Given the description of an element on the screen output the (x, y) to click on. 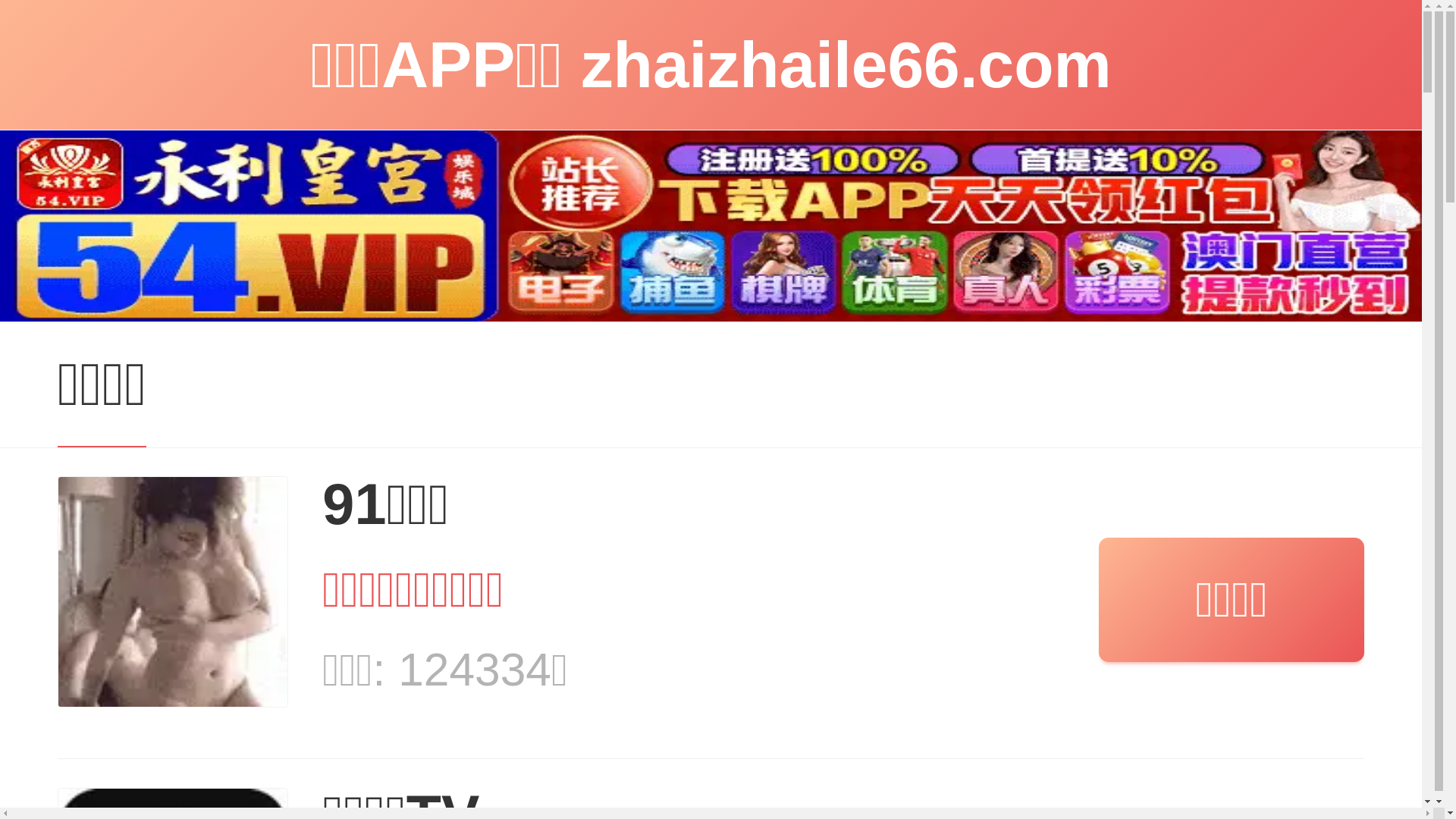
Home Element type: text (104, 253)
admin Element type: text (151, 311)
